Given the description of an element on the screen output the (x, y) to click on. 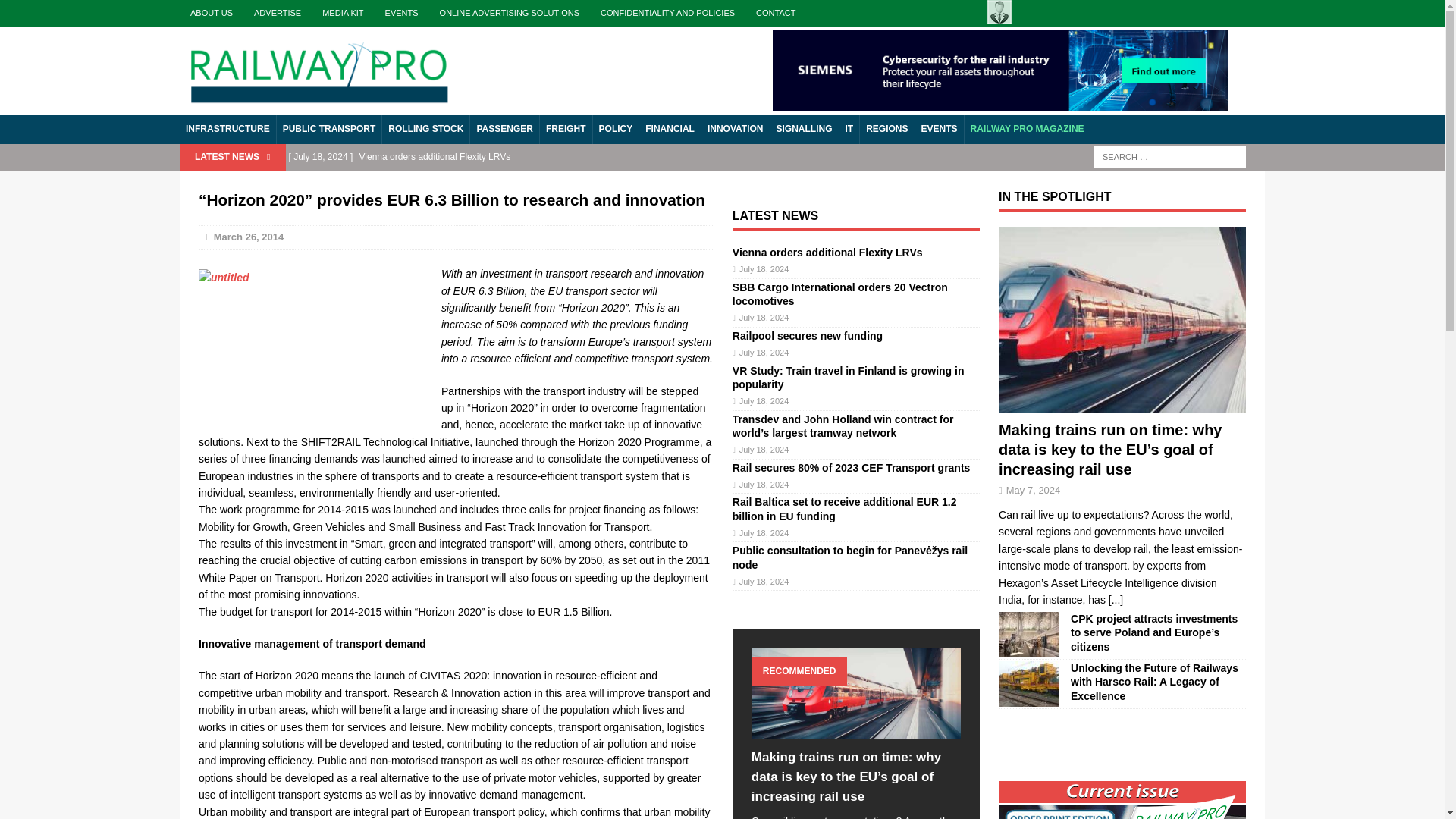
SBB Cargo International orders 20 Vectron locomotives (839, 294)
ADVERTISE (277, 13)
PUBLIC TRANSPORT (328, 129)
POLICY (615, 129)
MEDIA KIT (342, 13)
ABOUT US (211, 13)
EVENTS (401, 13)
INFRASTRUCTURE (227, 129)
VR Study: Train travel in Finland is growing in popularity (847, 377)
Railway PRO (318, 68)
ROLLING STOCK (424, 129)
Vienna orders additional Flexity LRVs (827, 252)
FREIGHT (565, 129)
CONFIDENTIALITY AND POLICIES (667, 13)
SBB Cargo International orders 20 Vectron locomotives (604, 182)
